Given the description of an element on the screen output the (x, y) to click on. 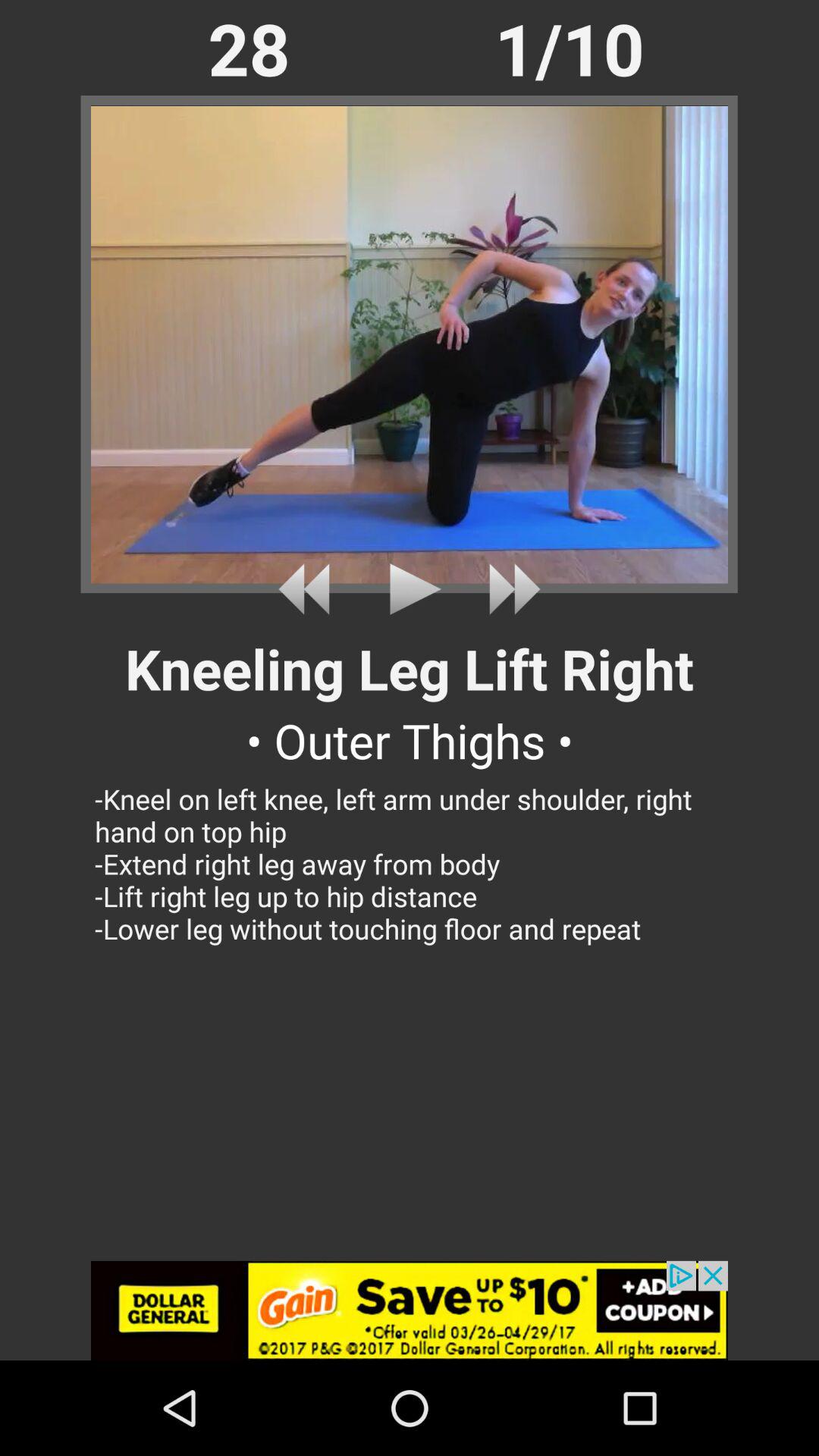
play the video (409, 589)
